Given the description of an element on the screen output the (x, y) to click on. 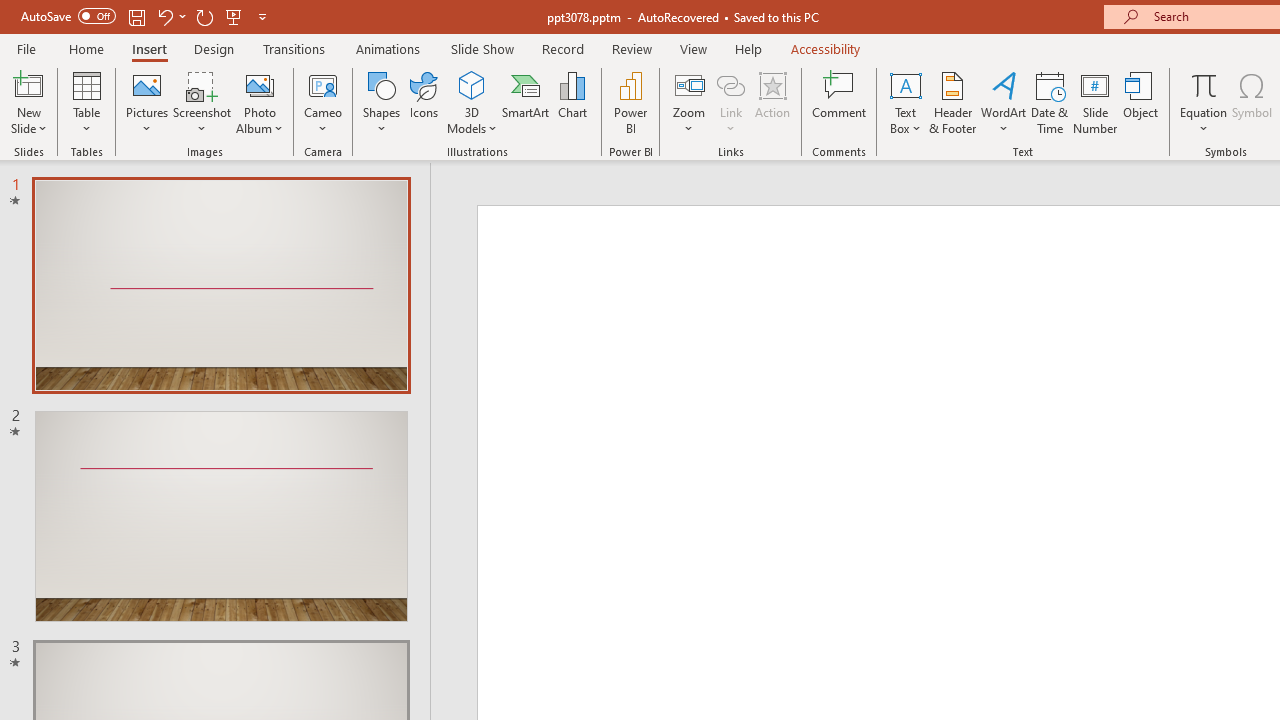
Photo Album... (259, 102)
SmartArt... (525, 102)
Screenshot (202, 102)
Chart... (572, 102)
Action (772, 102)
